Given the description of an element on the screen output the (x, y) to click on. 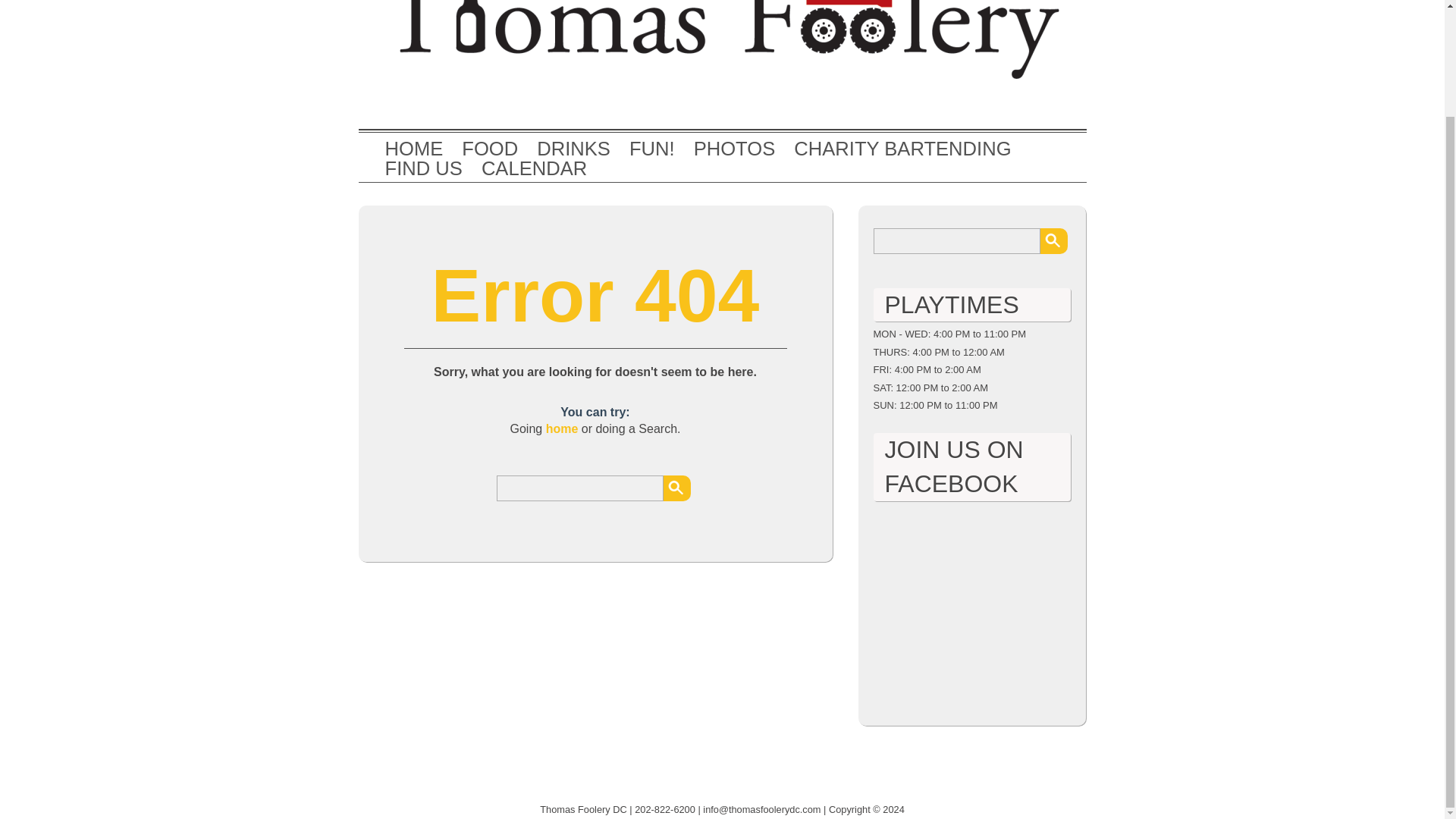
Search (676, 488)
CALENDAR (533, 168)
Search (676, 488)
home (562, 428)
DRINKS (573, 148)
FOOD (489, 148)
Search (1054, 240)
HOME (414, 148)
PHOTOS (735, 148)
CHARITY BARTENDING (901, 148)
Search (1054, 240)
FUN! (651, 148)
FIND US (424, 168)
